Given the description of an element on the screen output the (x, y) to click on. 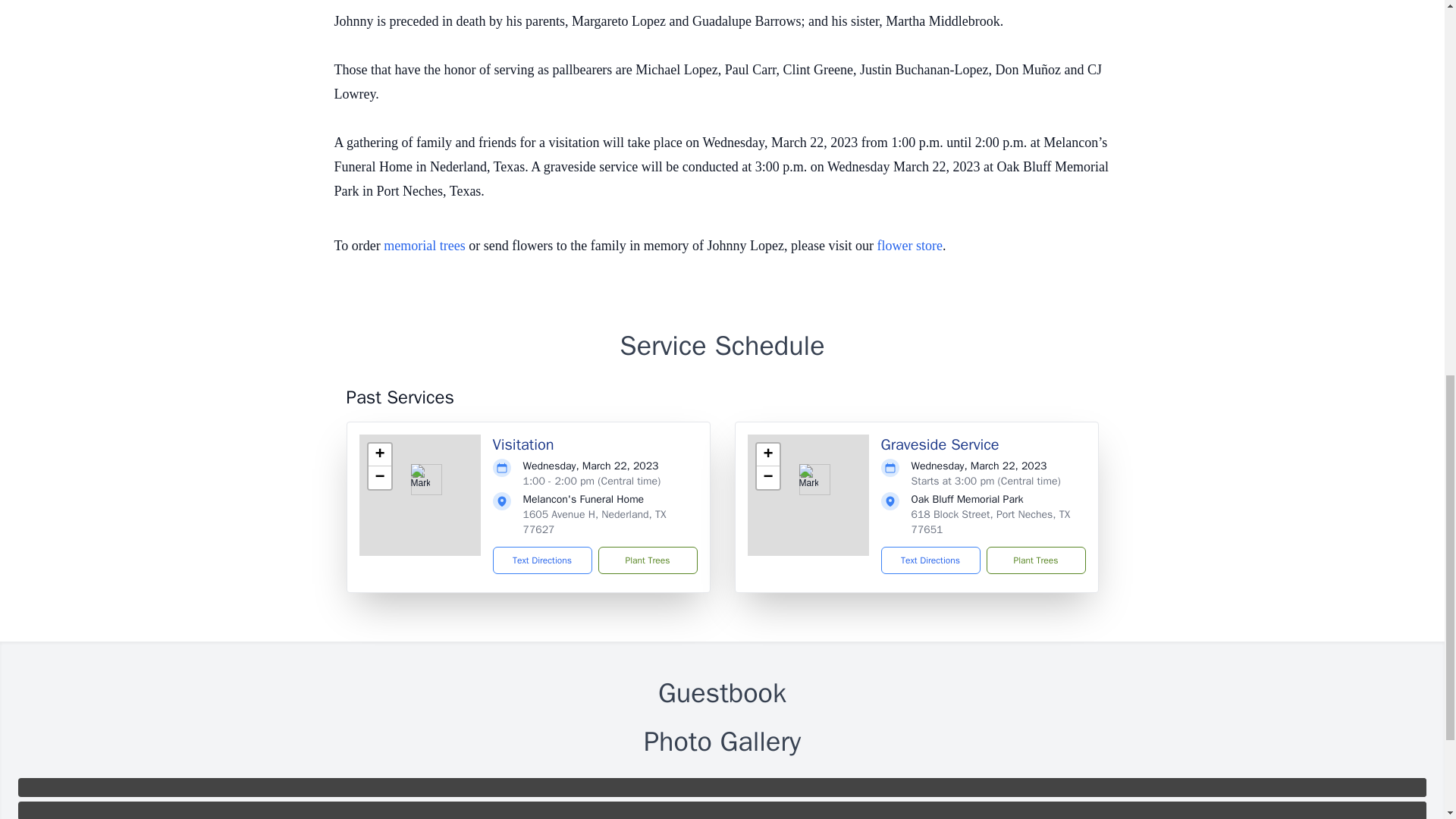
Zoom in (379, 454)
Zoom out (379, 477)
Zoom out (767, 477)
1605 Avenue H, Nederland, TX 77627 (594, 521)
Plant Trees (1034, 560)
Text Directions (929, 560)
Text Directions (542, 560)
flower store (909, 245)
memorial trees (424, 245)
Zoom in (767, 454)
Plant Trees (646, 560)
618 Block Street, Port Neches, TX 77651 (990, 521)
